Given the description of an element on the screen output the (x, y) to click on. 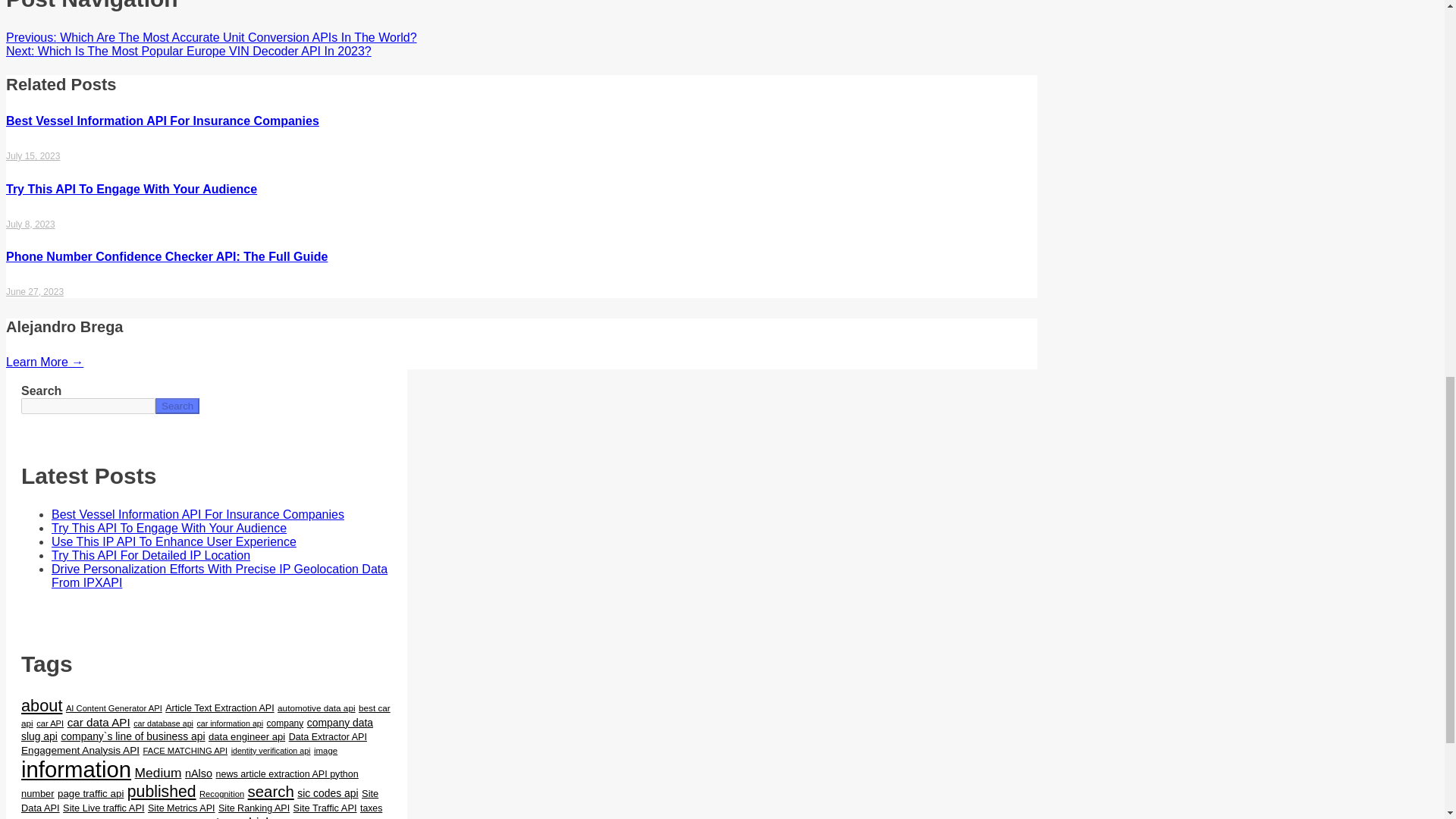
Try This API For Detailed IP Location (150, 554)
Try This API To Engage With Your Audience (168, 527)
July 8, 2023 (30, 224)
Phone Number Confidence Checker API: The Full Guide (166, 256)
about (41, 705)
June 27, 2023 (34, 291)
July 15, 2023 (32, 155)
Search (177, 406)
